Given the description of an element on the screen output the (x, y) to click on. 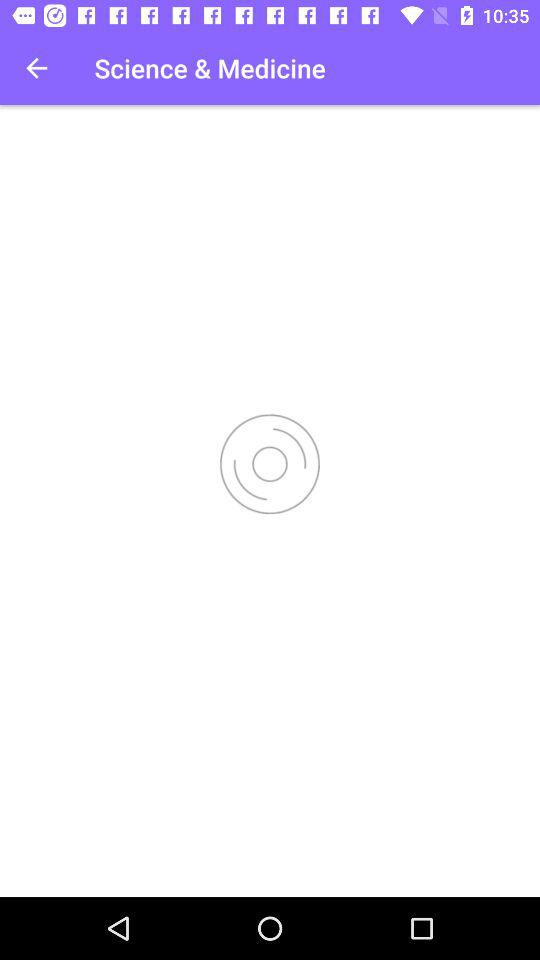
open the icon next to science & medicine (36, 68)
